Given the description of an element on the screen output the (x, y) to click on. 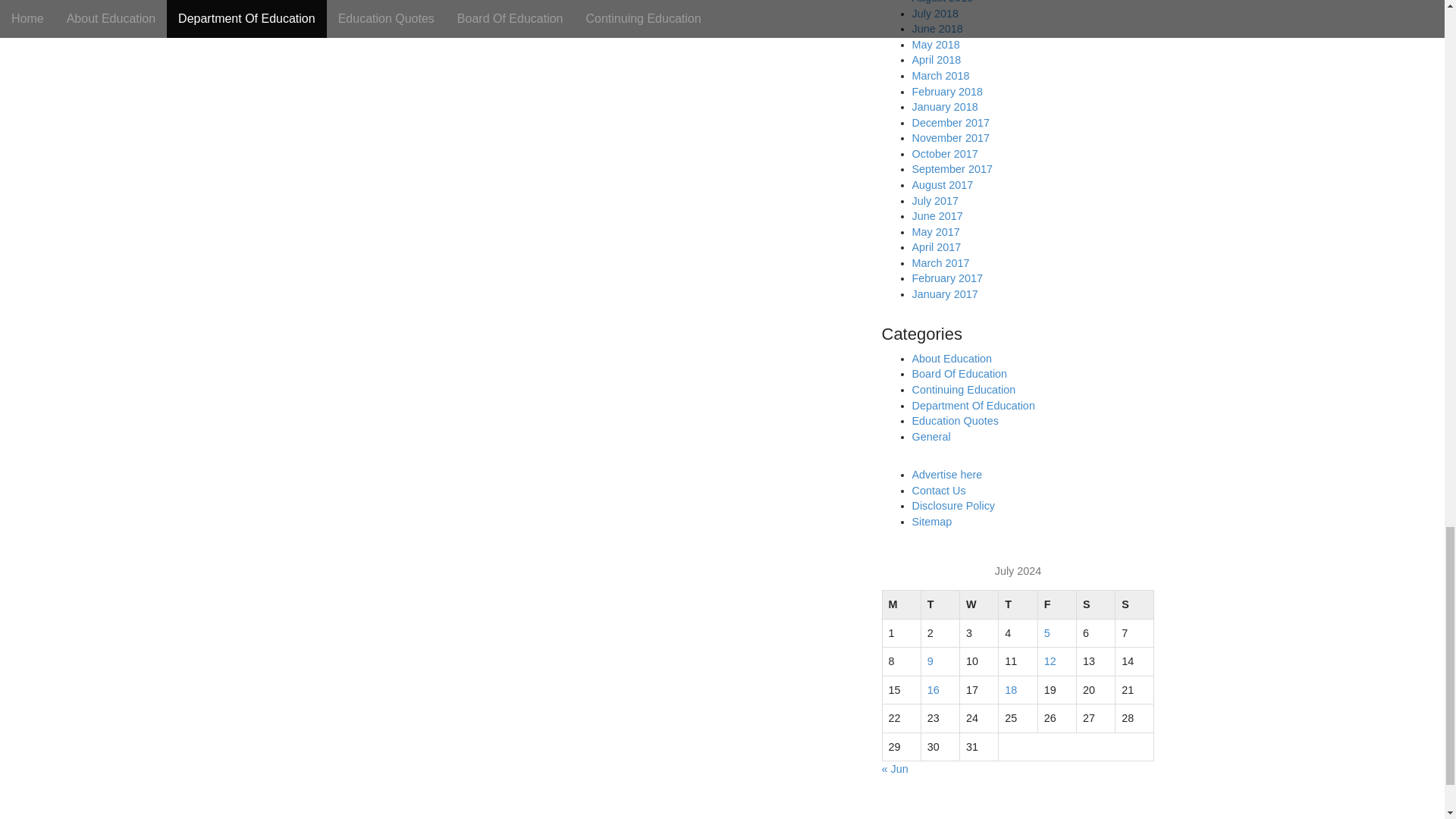
Monday (901, 604)
Tuesday (939, 604)
Thursday (1017, 604)
Friday (1055, 604)
Sunday (1134, 604)
Wednesday (978, 604)
Saturday (1095, 604)
